Given the description of an element on the screen output the (x, y) to click on. 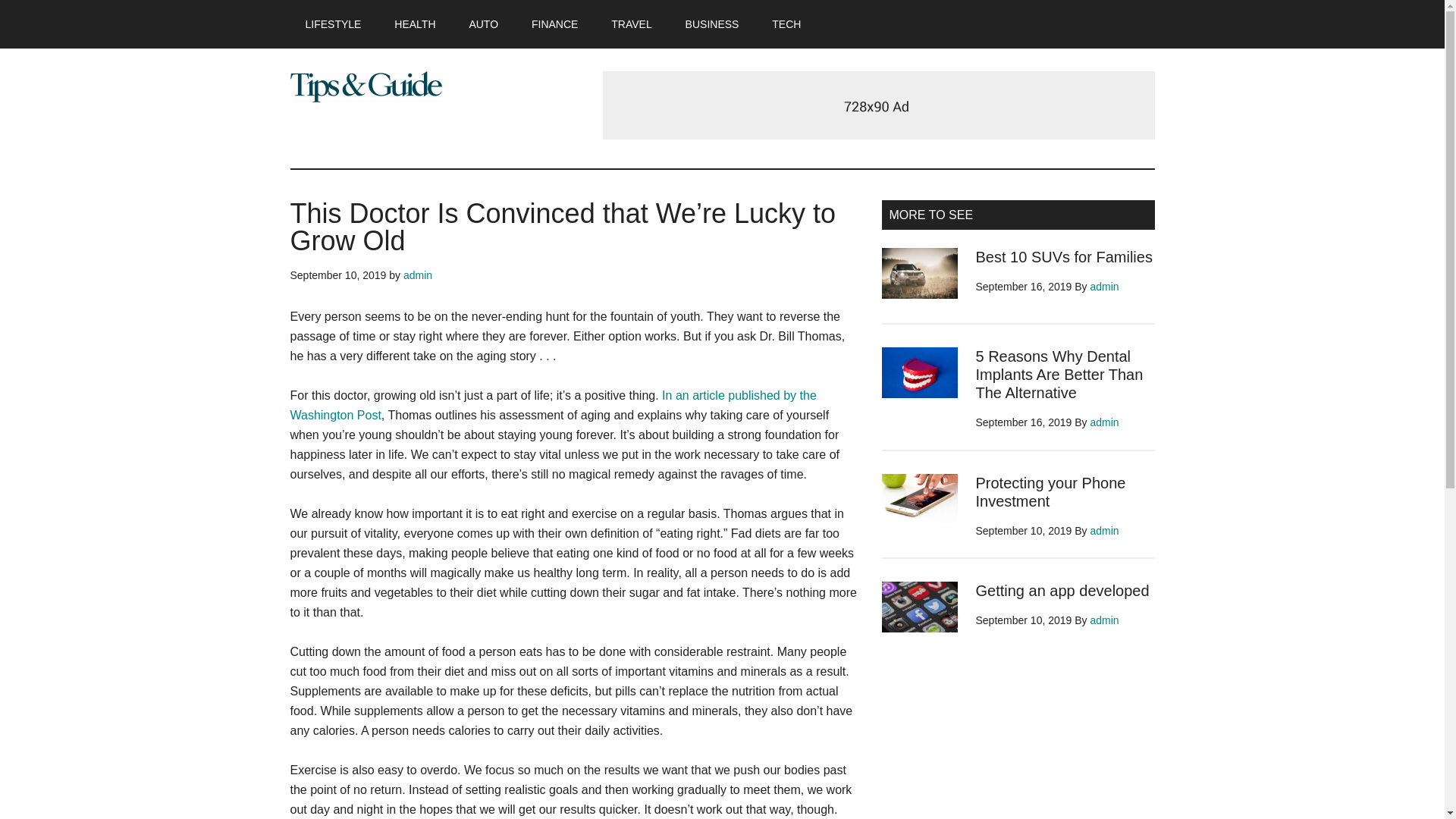
admin (417, 275)
admin (1104, 620)
admin (1104, 530)
Getting an app developed (1061, 590)
admin (1104, 422)
In an article published by the Washington Post (552, 405)
AUTO (482, 24)
LIFESTYLE (332, 24)
Best 10 SUVs for Families (1063, 256)
